Given the description of an element on the screen output the (x, y) to click on. 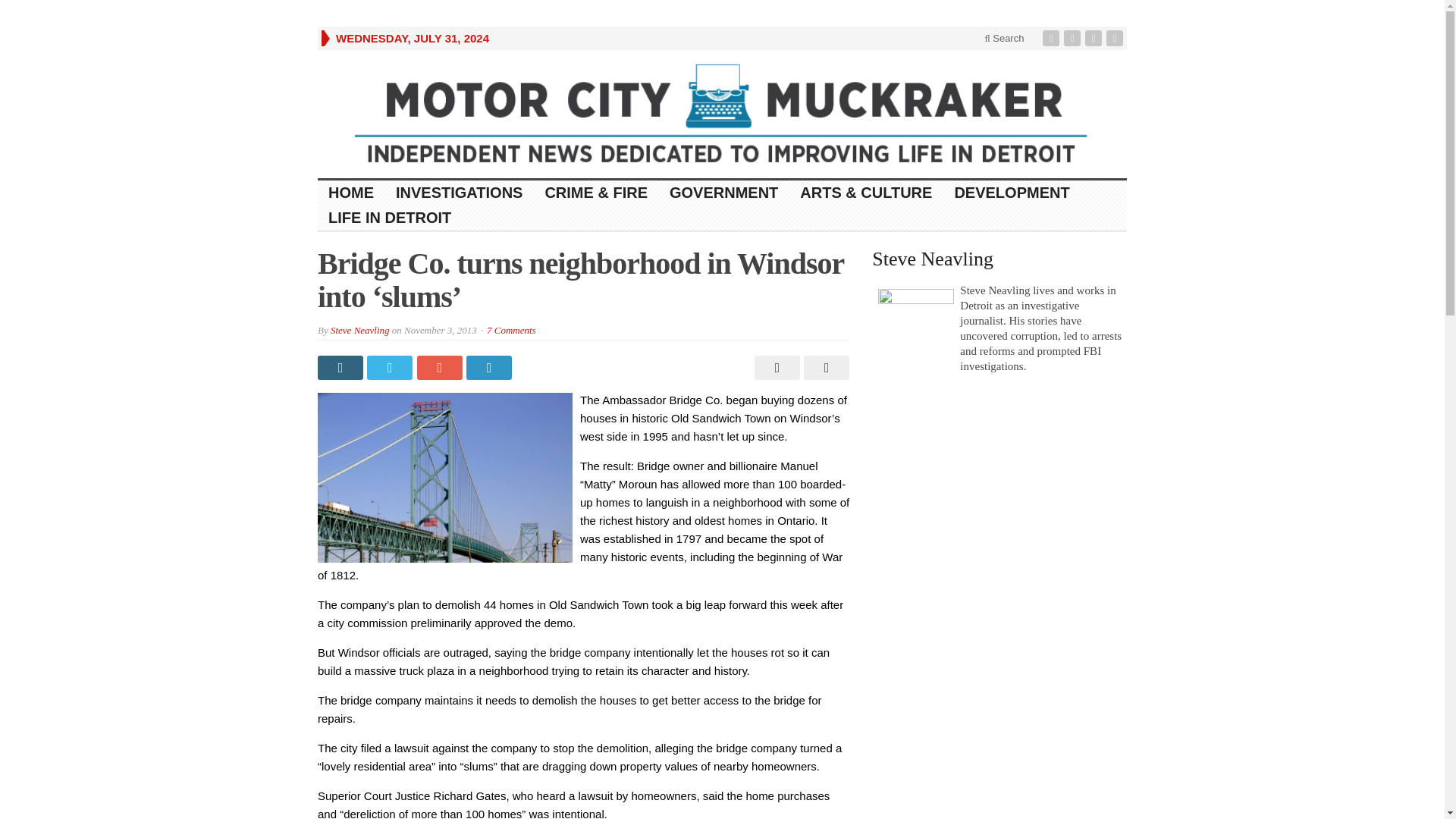
Send by Email (823, 367)
Facebook (1052, 37)
LIFE IN DETROIT (390, 217)
Print This Post (775, 367)
INVESTIGATIONS (459, 192)
Share on LinkedIn (490, 367)
Steve Neavling (360, 329)
Youtube (1094, 37)
DEVELOPMENT (1011, 192)
HOME (351, 192)
7 Comments (510, 329)
Share on Twitter (391, 367)
GOVERNMENT (724, 192)
Twitter (1073, 37)
